Given the description of an element on the screen output the (x, y) to click on. 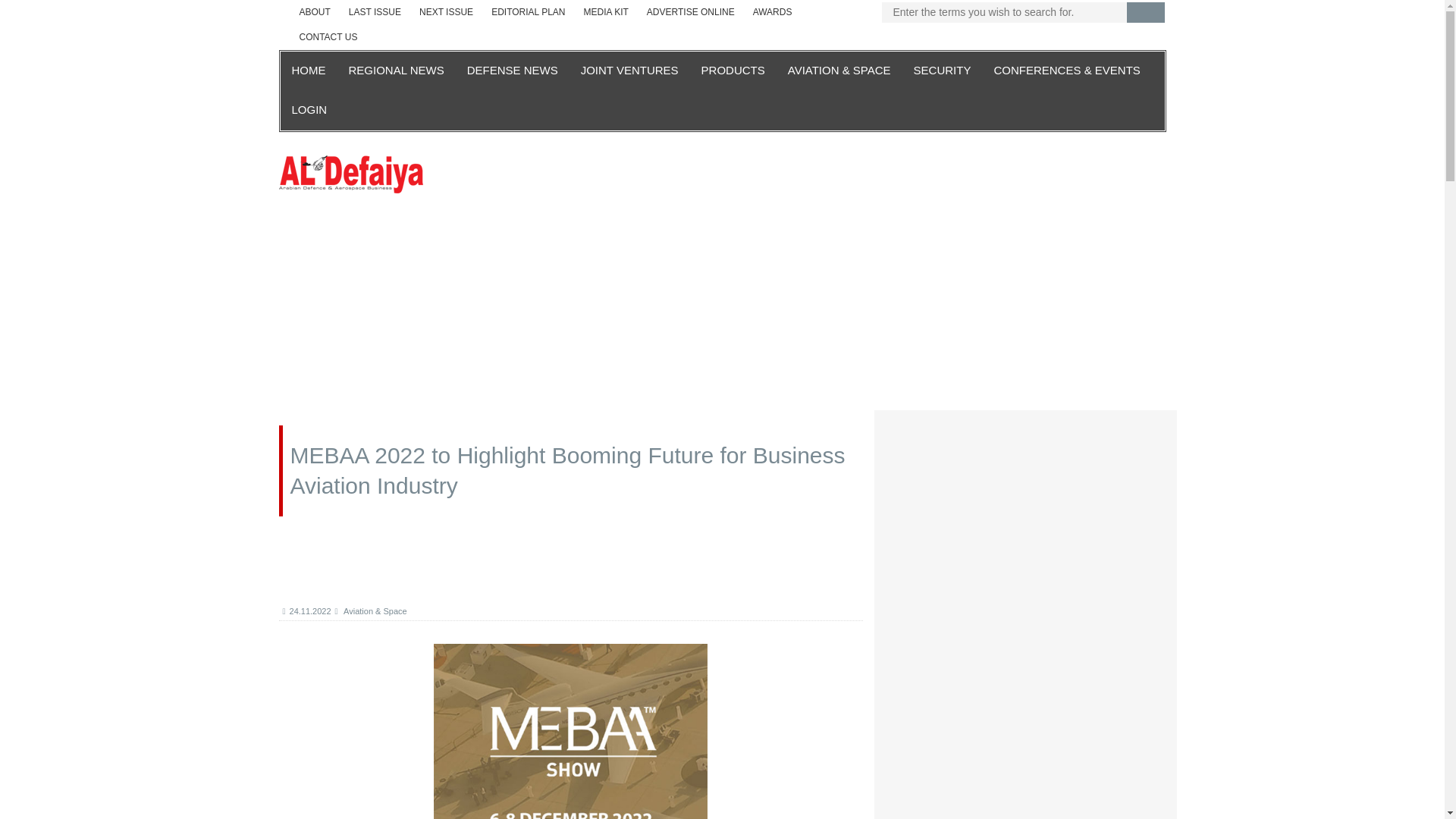
Home (351, 173)
ADVERTISE ONLINE (690, 12)
CONTACT US (327, 37)
JOINT VENTURES (629, 70)
LAST ISSUE (374, 12)
Search (1145, 12)
ABOUT (314, 12)
NEXT ISSUE (445, 12)
EDITORIAL PLAN (527, 12)
PRODUCTS (733, 70)
